Given the description of an element on the screen output the (x, y) to click on. 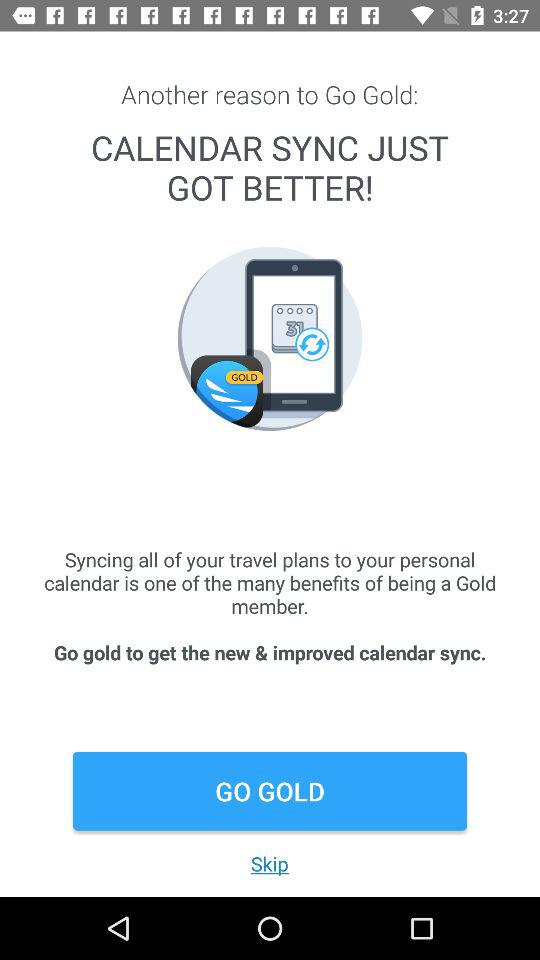
choose item below go gold (269, 863)
